Given the description of an element on the screen output the (x, y) to click on. 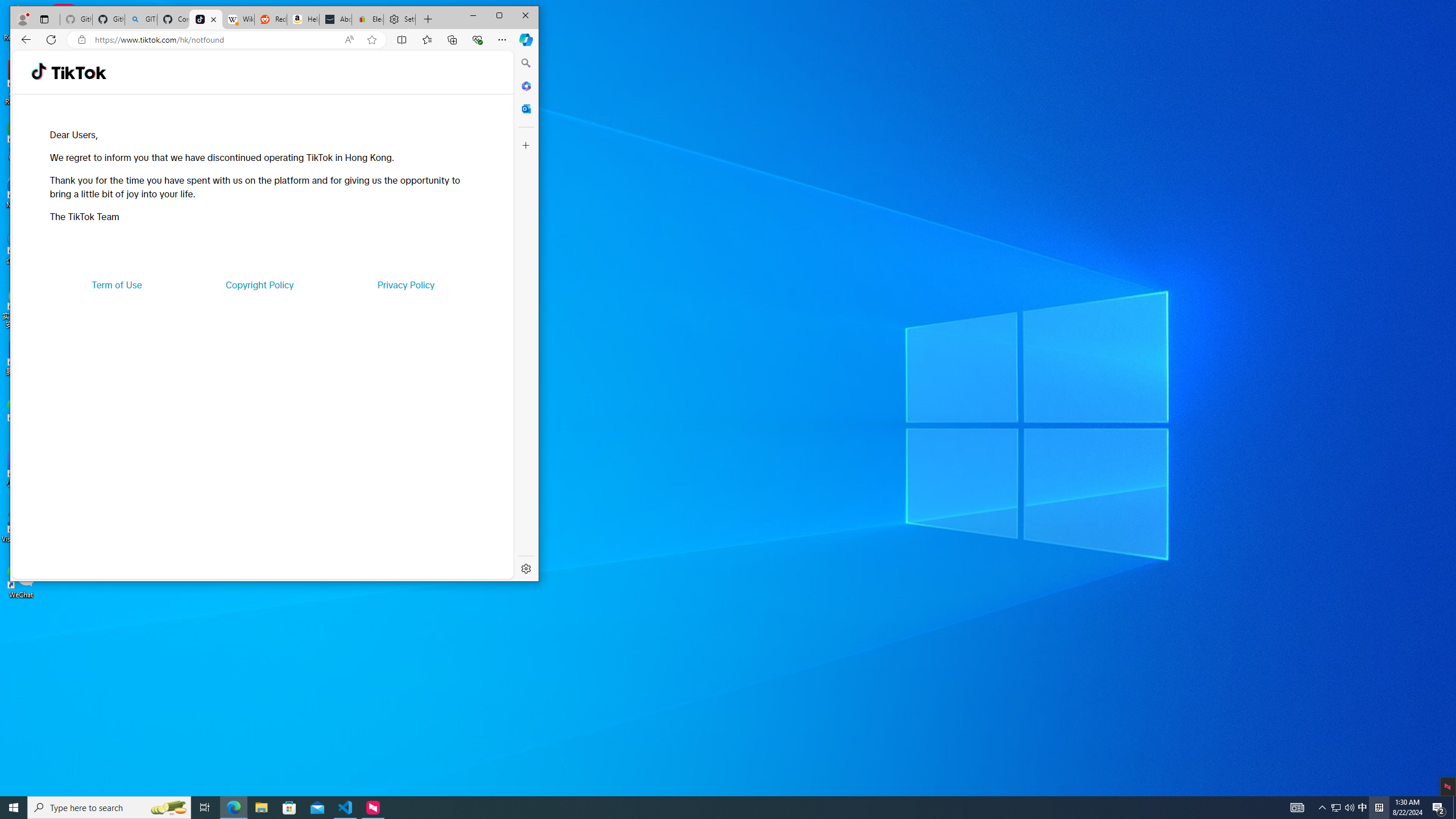
Term of Use (116, 284)
About Amazon (335, 19)
Copyright Policy (259, 284)
